Given the description of an element on the screen output the (x, y) to click on. 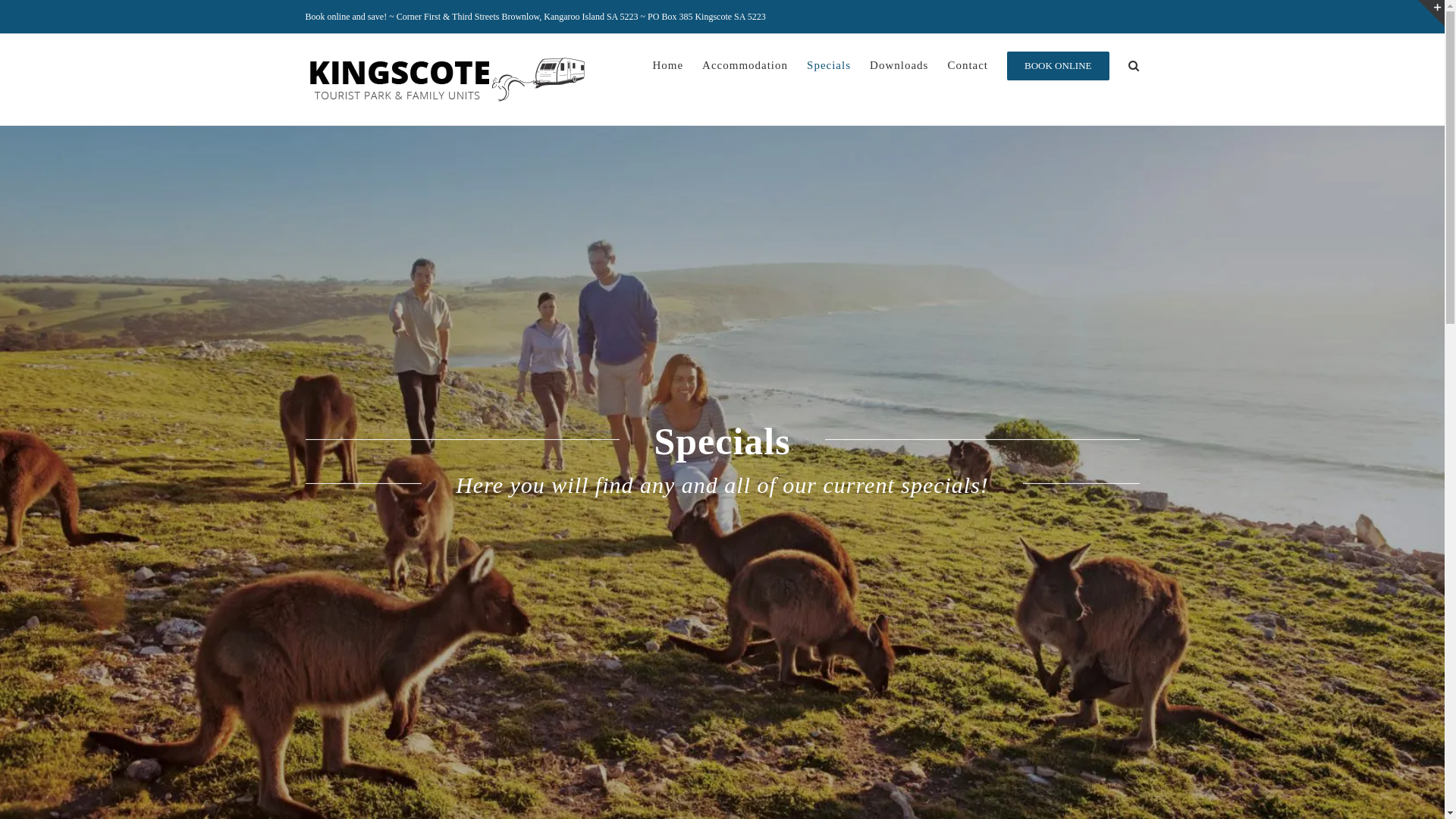
Downloads Element type: text (898, 65)
Accommodation Element type: text (744, 65)
Home Element type: text (667, 65)
BOOK ONLINE Element type: text (1057, 65)
Contact Element type: text (967, 65)
Specials Element type: text (828, 65)
